Given the description of an element on the screen output the (x, y) to click on. 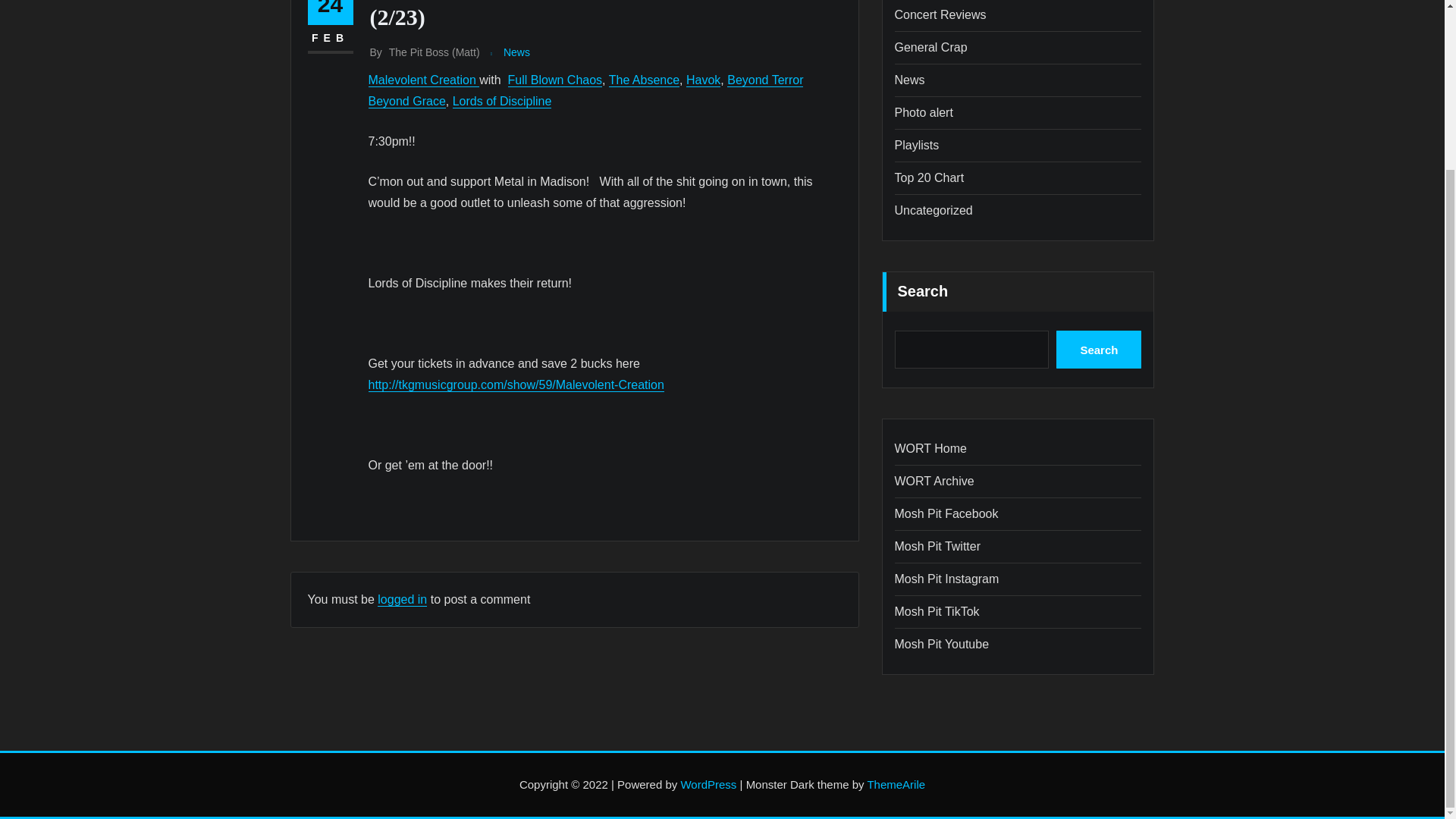
WordPress (707, 784)
Malevolent Creation (424, 79)
Playlists (917, 144)
Lords of Discipline (501, 101)
Uncategorized (933, 210)
logged in (401, 599)
Concert Reviews (941, 14)
Mosh Pit Instagram (946, 578)
Mosh Pit Facebook (946, 513)
WORT Archive (934, 481)
